Given the description of an element on the screen output the (x, y) to click on. 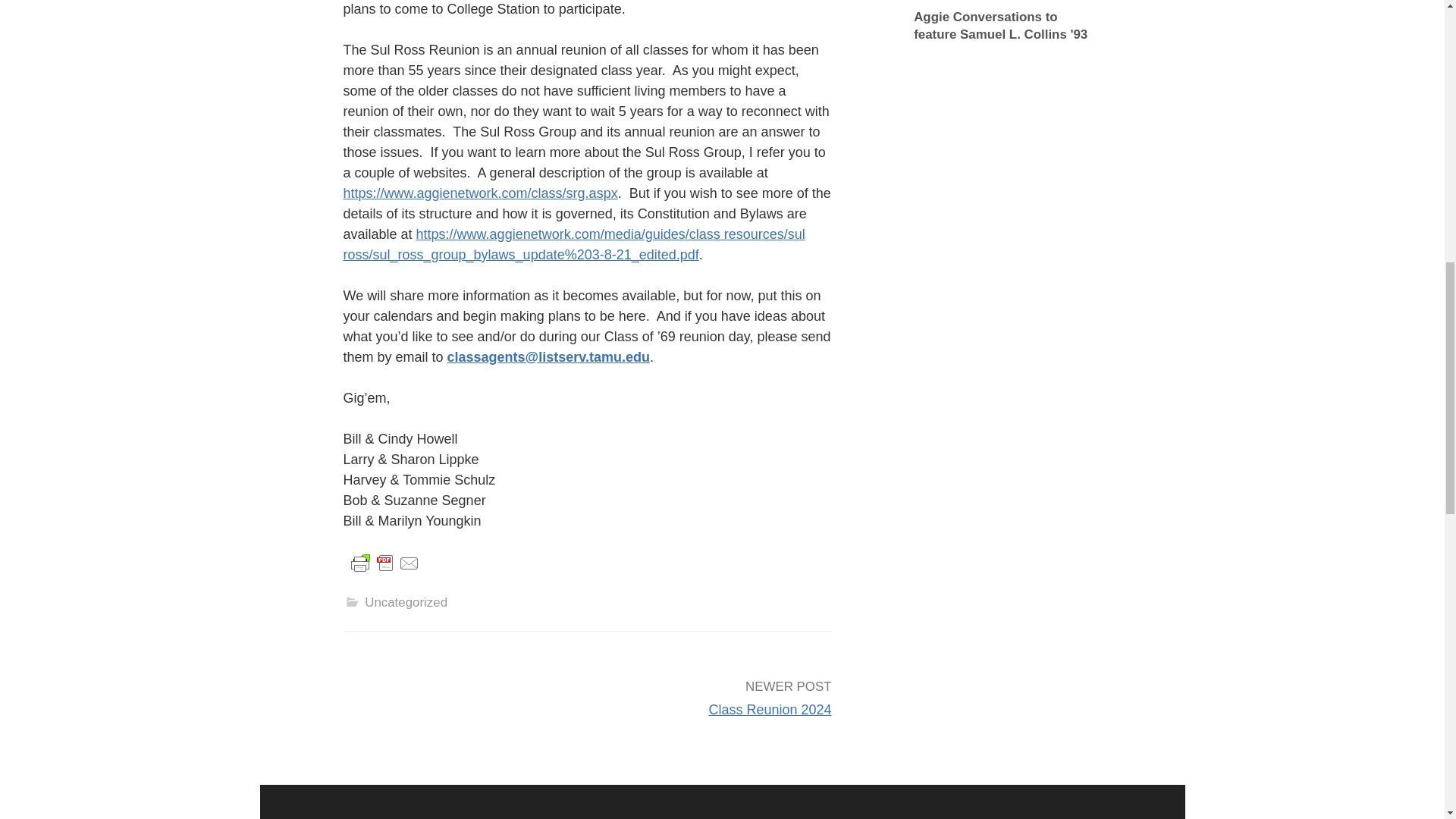
Uncategorized (405, 602)
Class Reunion 2024 (769, 709)
Aggie Conversations to feature Samuel L. Collins '93 (1003, 26)
